Given the description of an element on the screen output the (x, y) to click on. 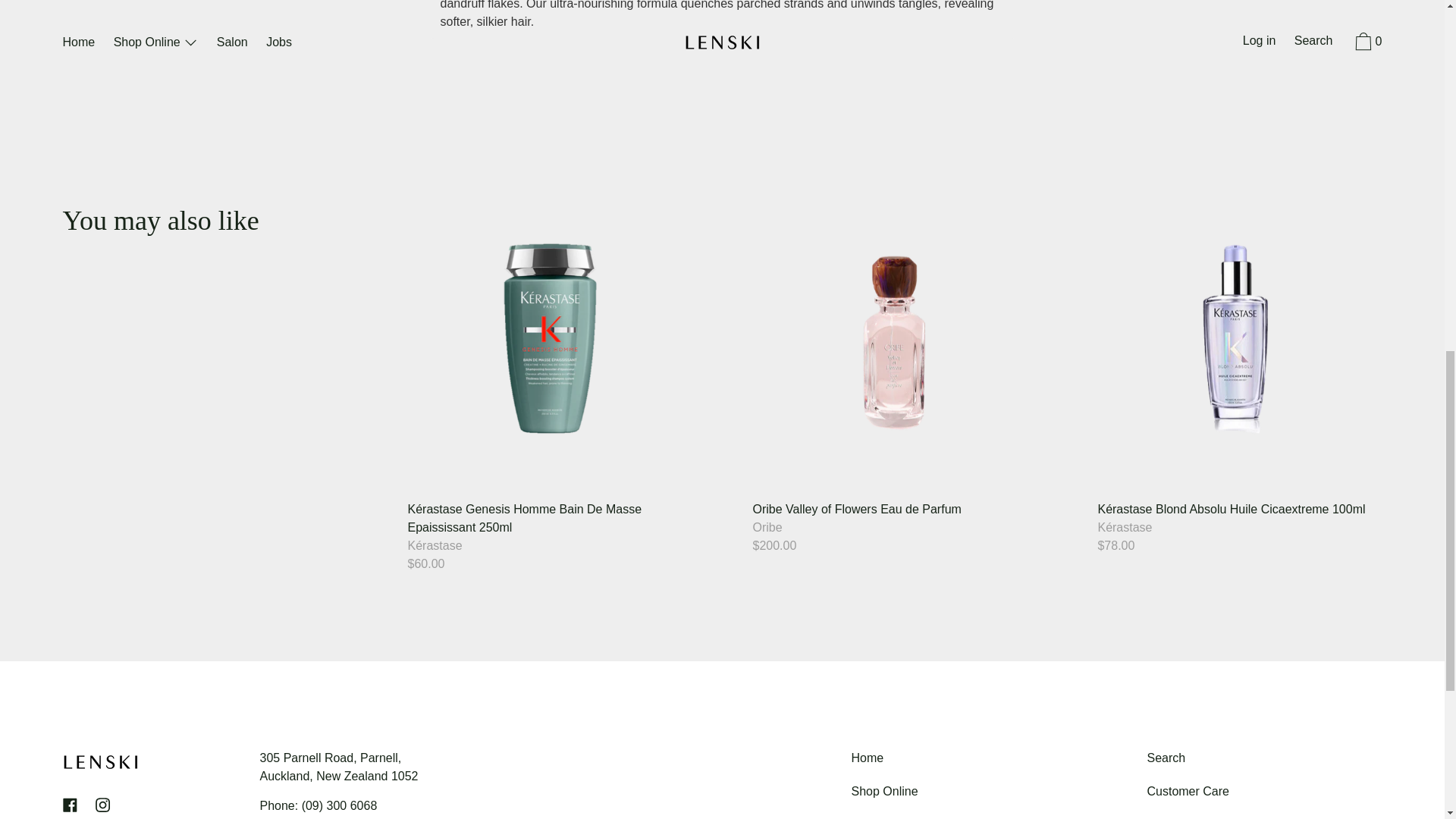
LENSKI on Instagram (102, 804)
LENSKI on Facebook (69, 804)
